Given the description of an element on the screen output the (x, y) to click on. 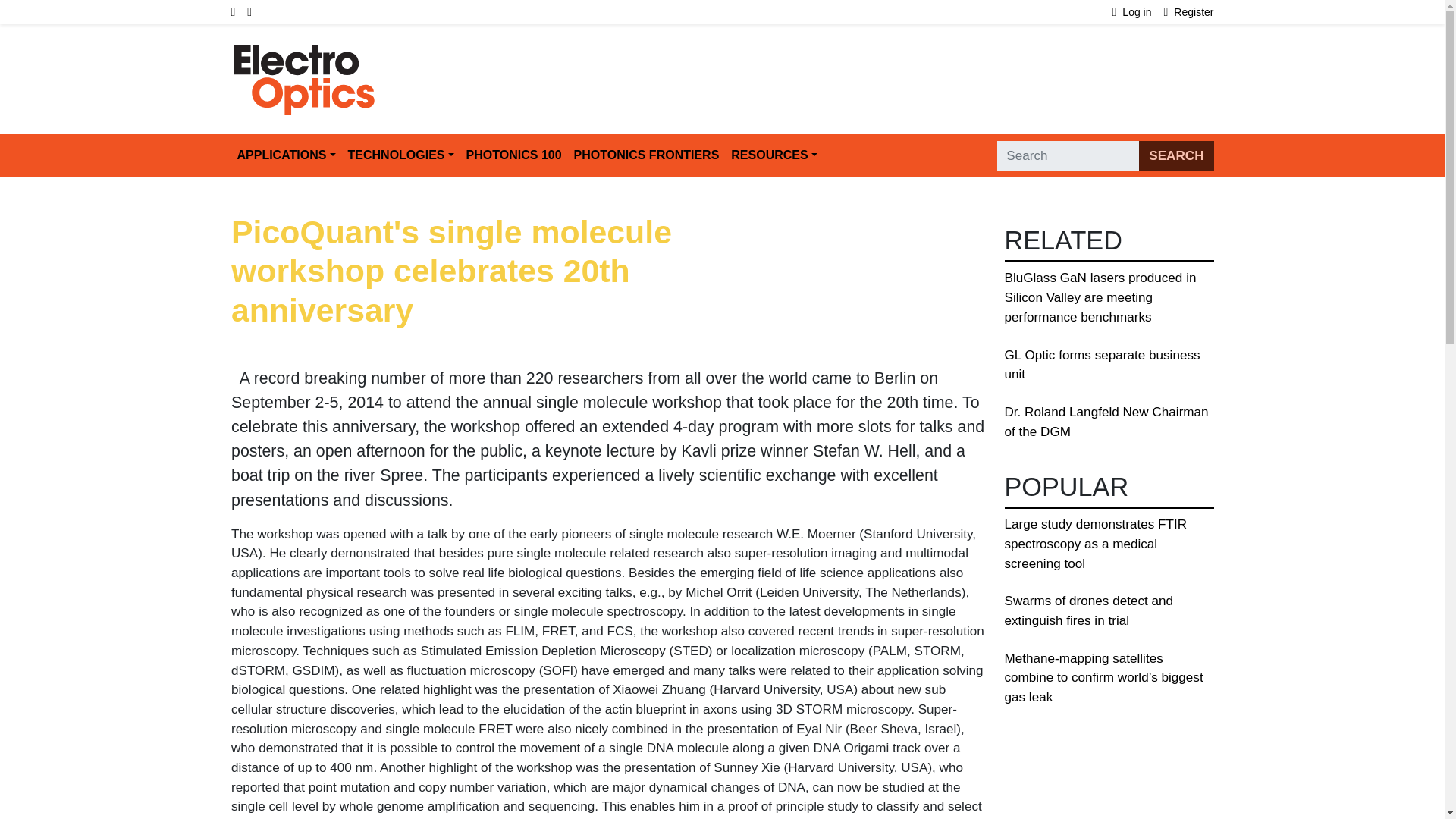
Register (1188, 12)
SEARCH (1175, 155)
Enter the terms you wish to search for. (1067, 155)
Swarms of drones detect and extinguish fires in trial (1088, 610)
Log in (1137, 12)
Home (304, 51)
PHOTONICS FRONTIERS (646, 155)
Dr. Roland Langfeld New Chairman of the DGM (1106, 421)
